Given the description of an element on the screen output the (x, y) to click on. 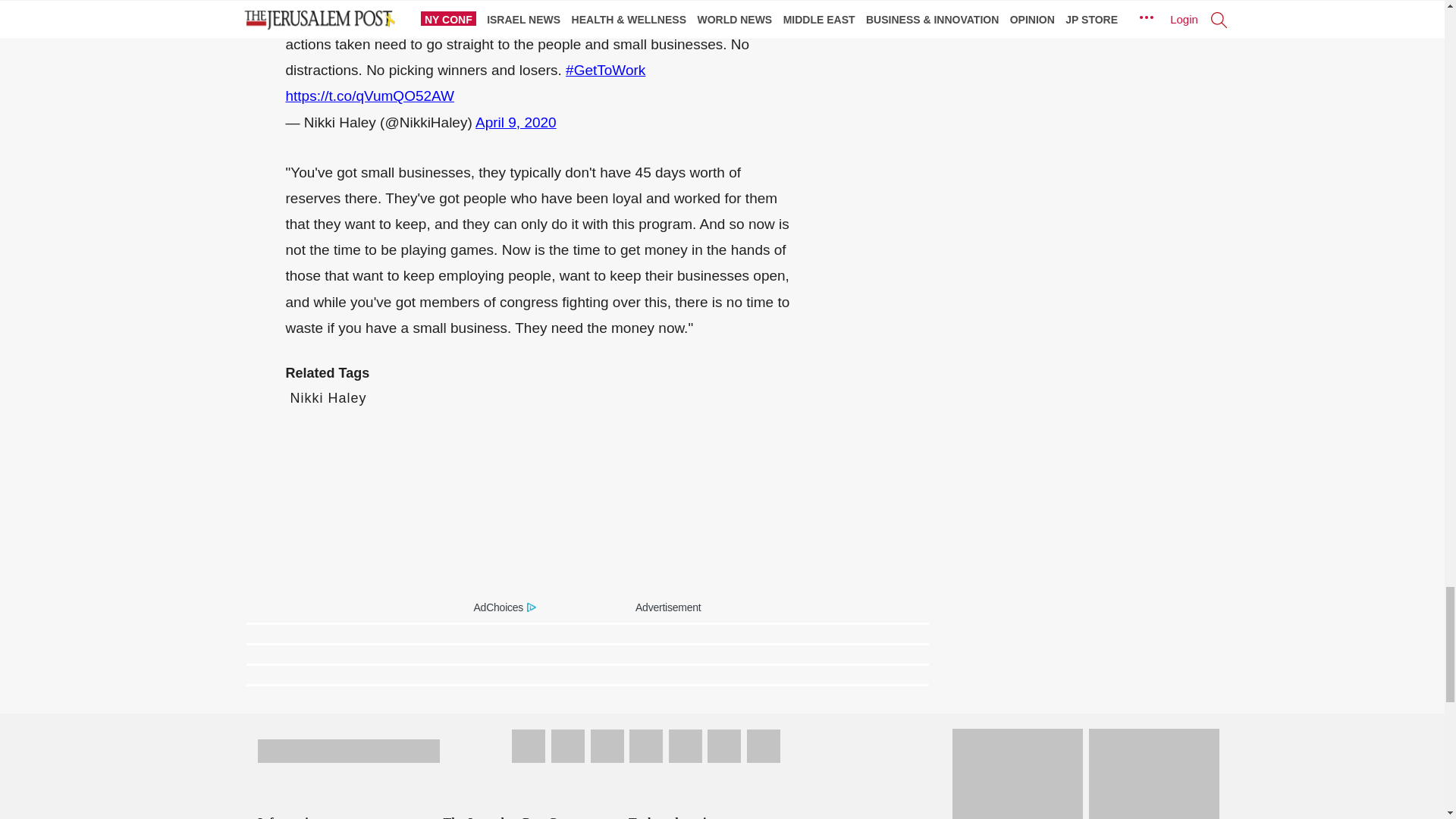
Nikki Haley (327, 397)
ad content (586, 503)
April 9, 2020 (516, 122)
